Given the description of an element on the screen output the (x, y) to click on. 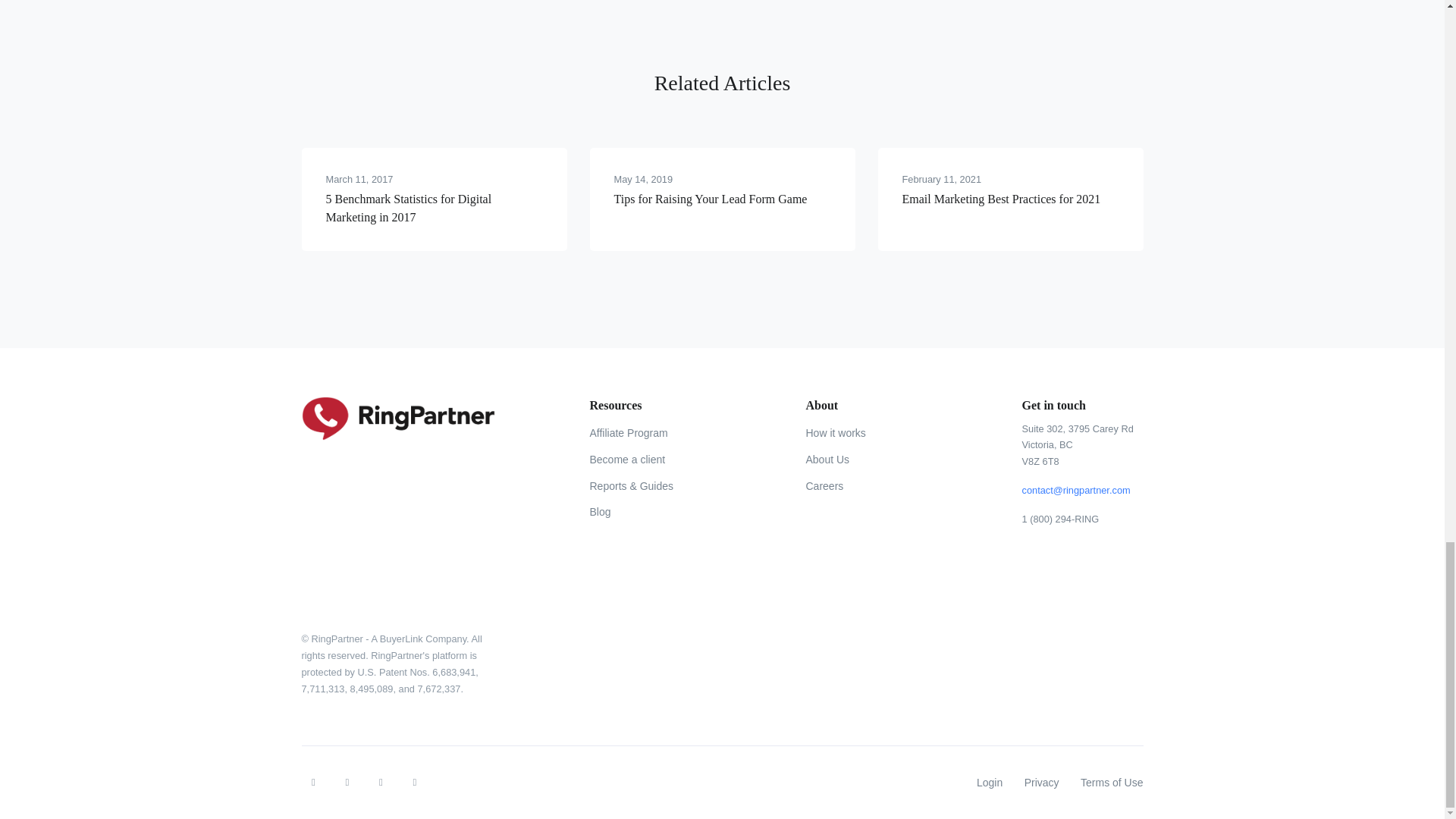
Privacy (1042, 782)
Facebook (313, 782)
Twitter (346, 782)
Instagram (380, 782)
Login (989, 782)
LinkedIn (414, 782)
Terms of Use (1111, 782)
